Given the description of an element on the screen output the (x, y) to click on. 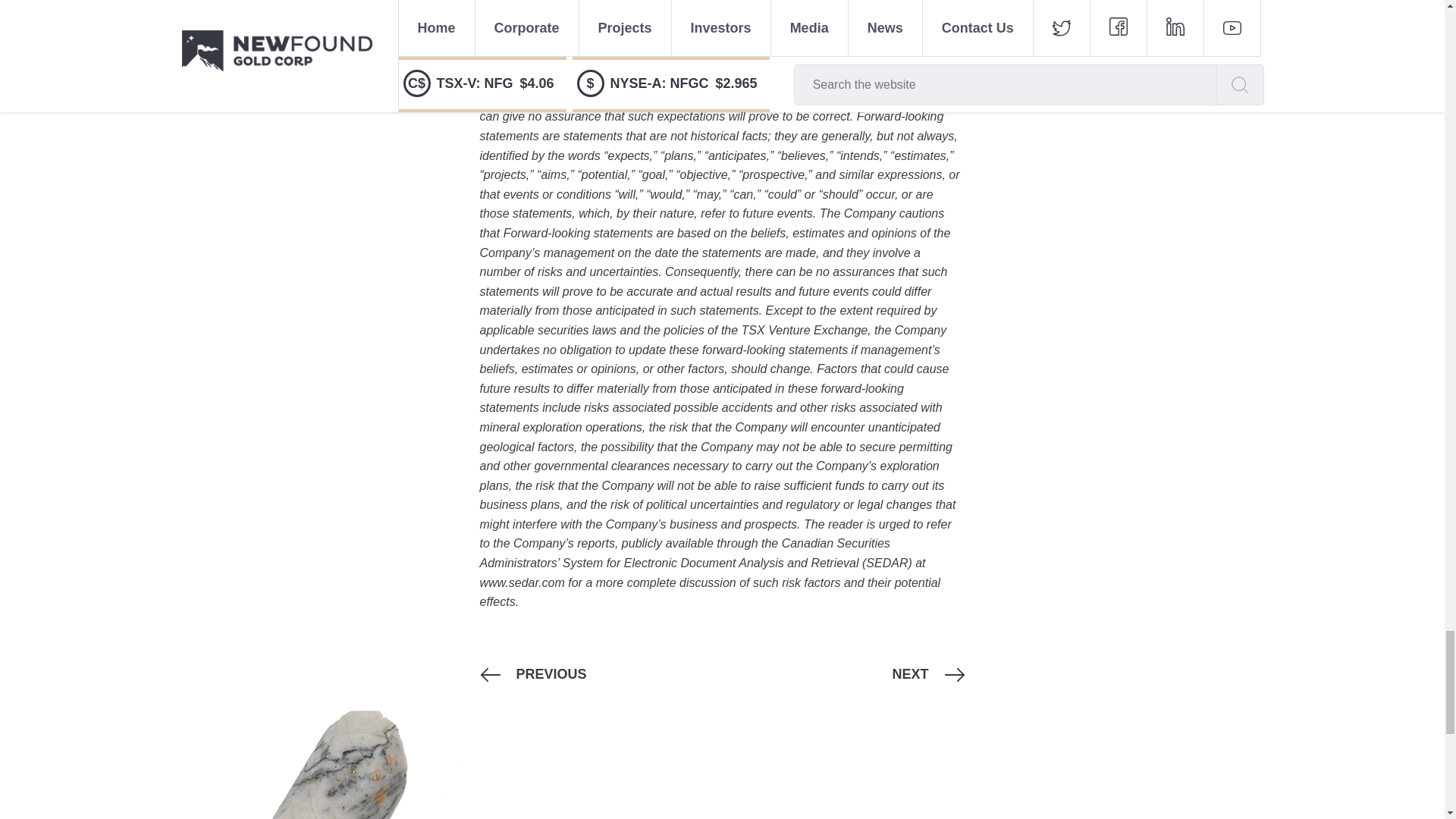
NEXT (909, 674)
PREVIOUS (550, 674)
